Given the description of an element on the screen output the (x, y) to click on. 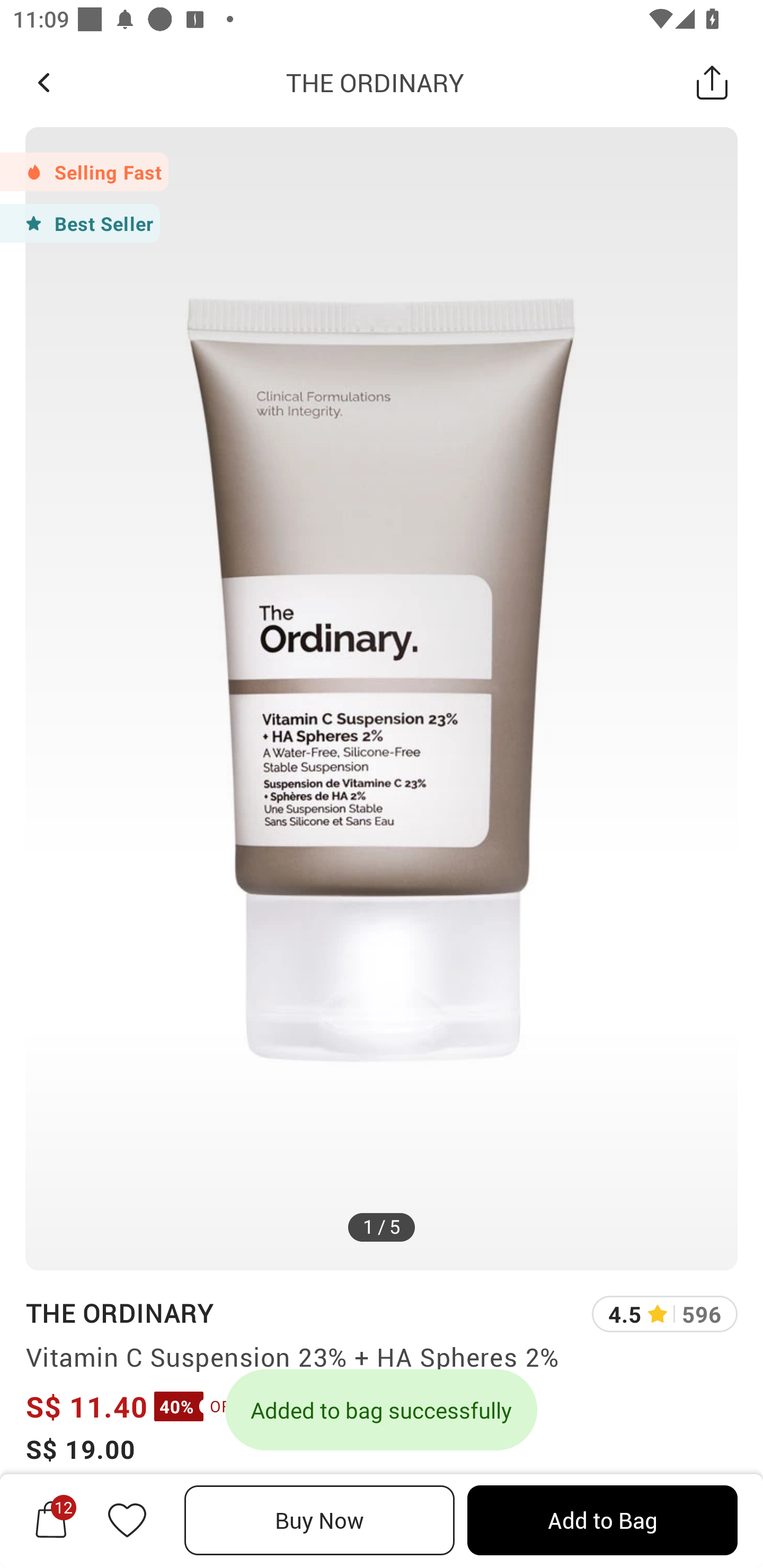
THE ORDINARY (375, 82)
Share this Product (711, 82)
THE ORDINARY (119, 1312)
4.5 596 (664, 1313)
Buy Now (319, 1519)
Add to Bag (601, 1519)
12 (50, 1520)
